Given the description of an element on the screen output the (x, y) to click on. 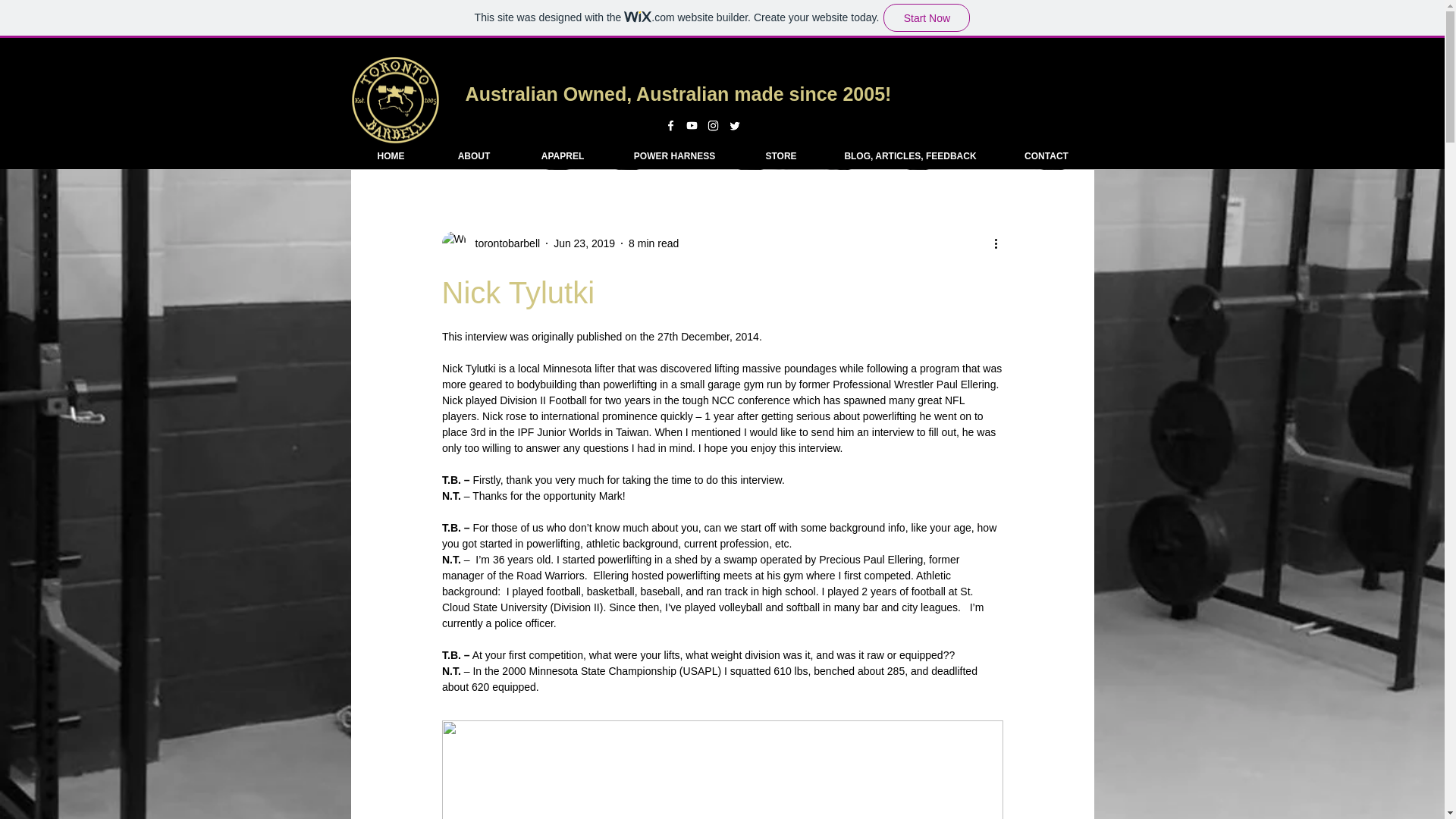
ABOUT (472, 156)
CONTACT (1045, 156)
POWER HARNESS (673, 156)
STORE (780, 156)
Jun 23, 2019 (583, 242)
BLOG, ARTICLES, FEEDBACK (910, 156)
APAPREL (561, 156)
HOME (390, 156)
8 min read (653, 242)
torontobarbell (502, 242)
